Given the description of an element on the screen output the (x, y) to click on. 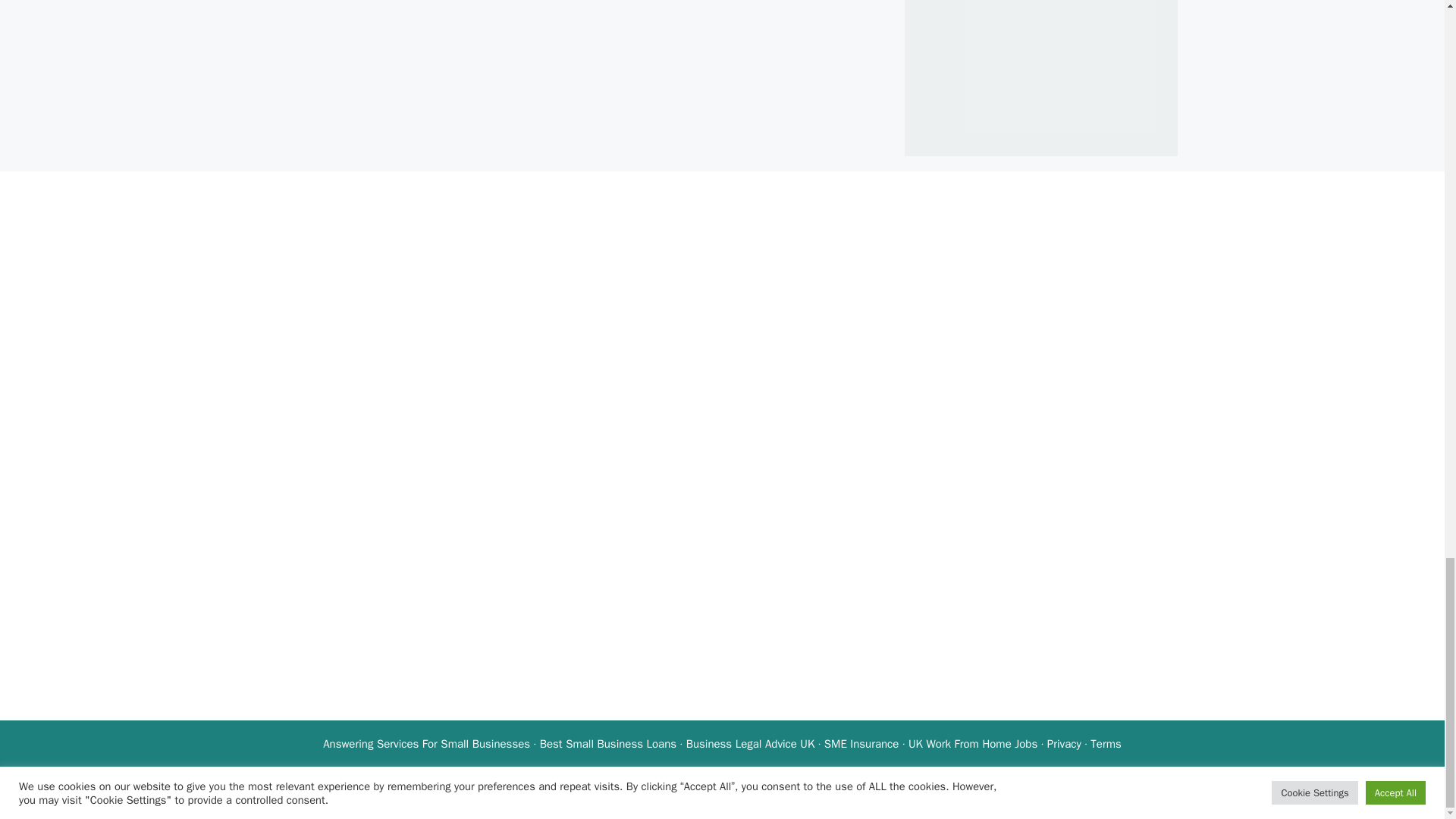
Advertisement (1071, 65)
Advertisement (463, 577)
